Given the description of an element on the screen output the (x, y) to click on. 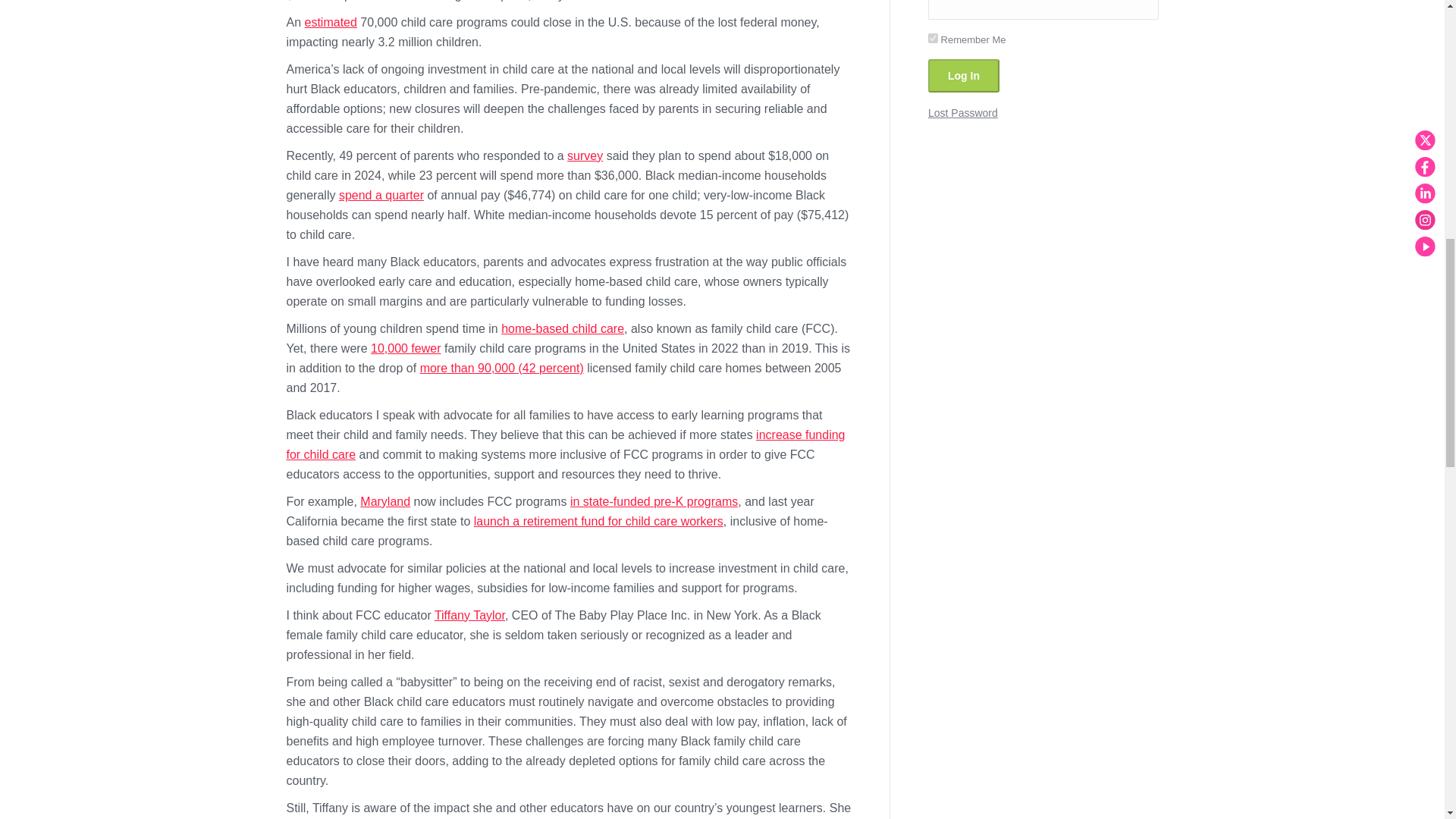
forever (932, 38)
Log In (963, 75)
